Given the description of an element on the screen output the (x, y) to click on. 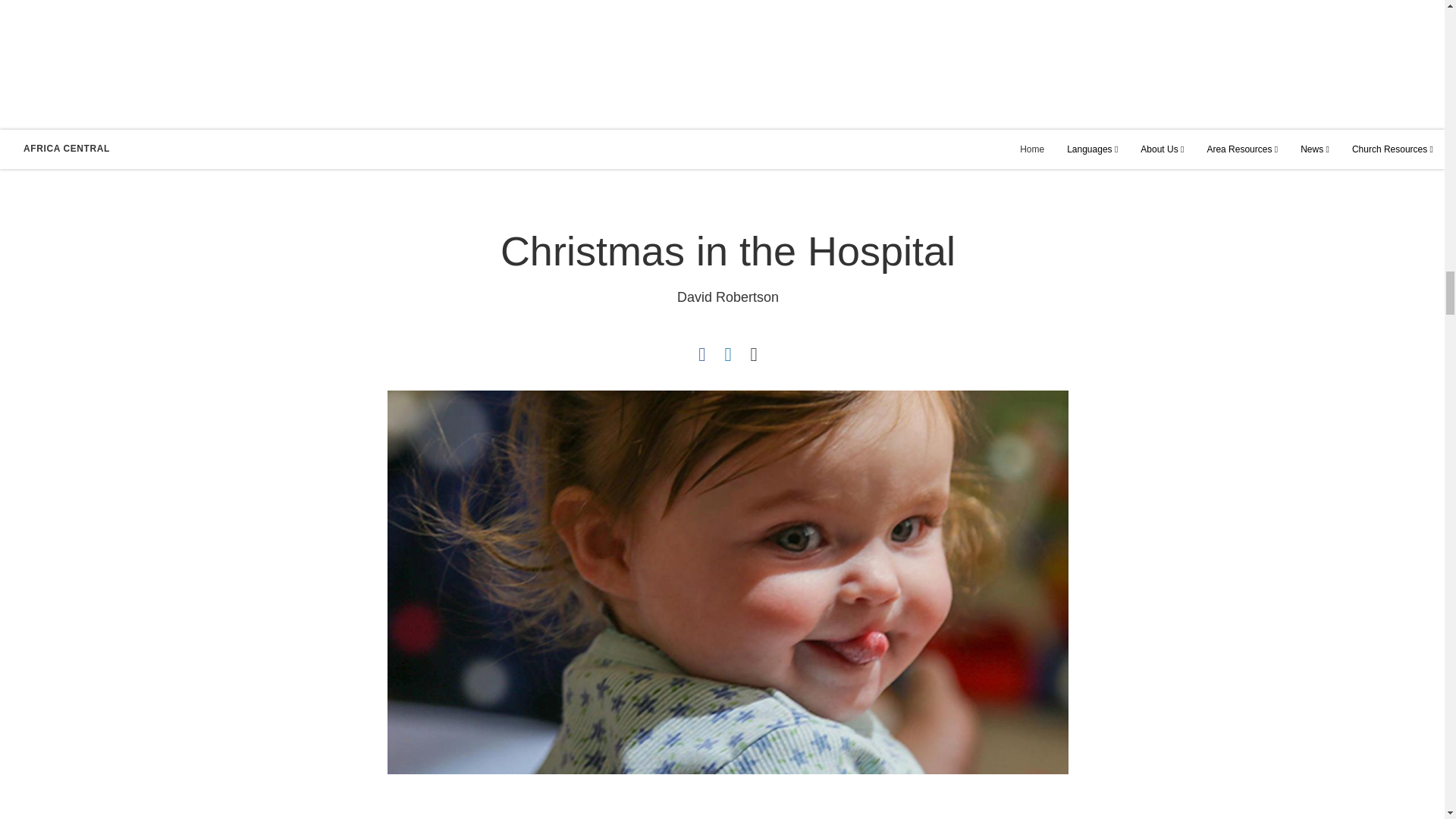
AFRICA CENTRAL (66, 148)
